Given the description of an element on the screen output the (x, y) to click on. 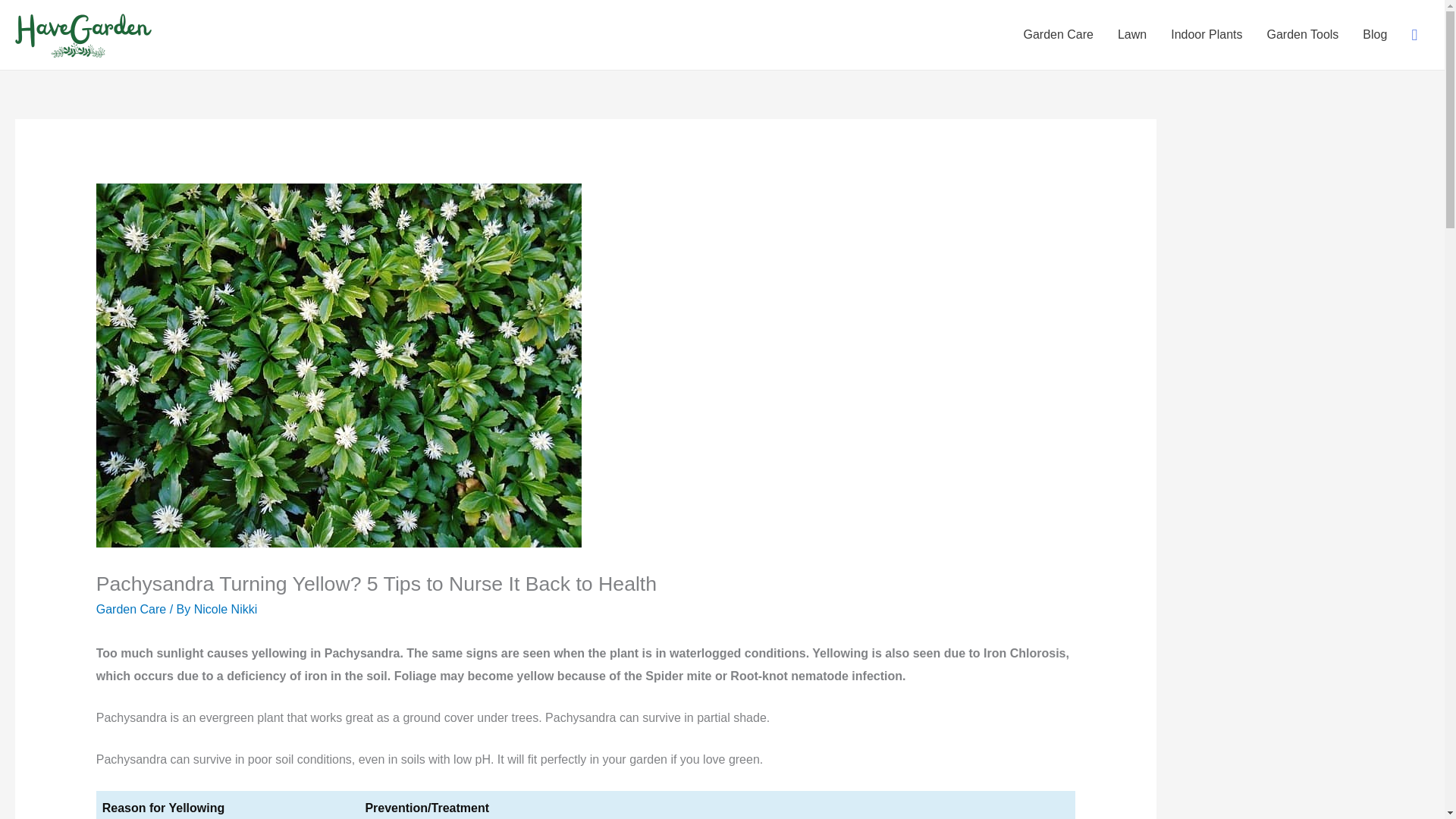
Garden Tools (1302, 34)
Garden Care (131, 608)
Indoor Plants (1205, 34)
Garden Care (1057, 34)
View all posts by Nicole Nikki (225, 608)
Search (18, 17)
Nicole Nikki (225, 608)
